Given the description of an element on the screen output the (x, y) to click on. 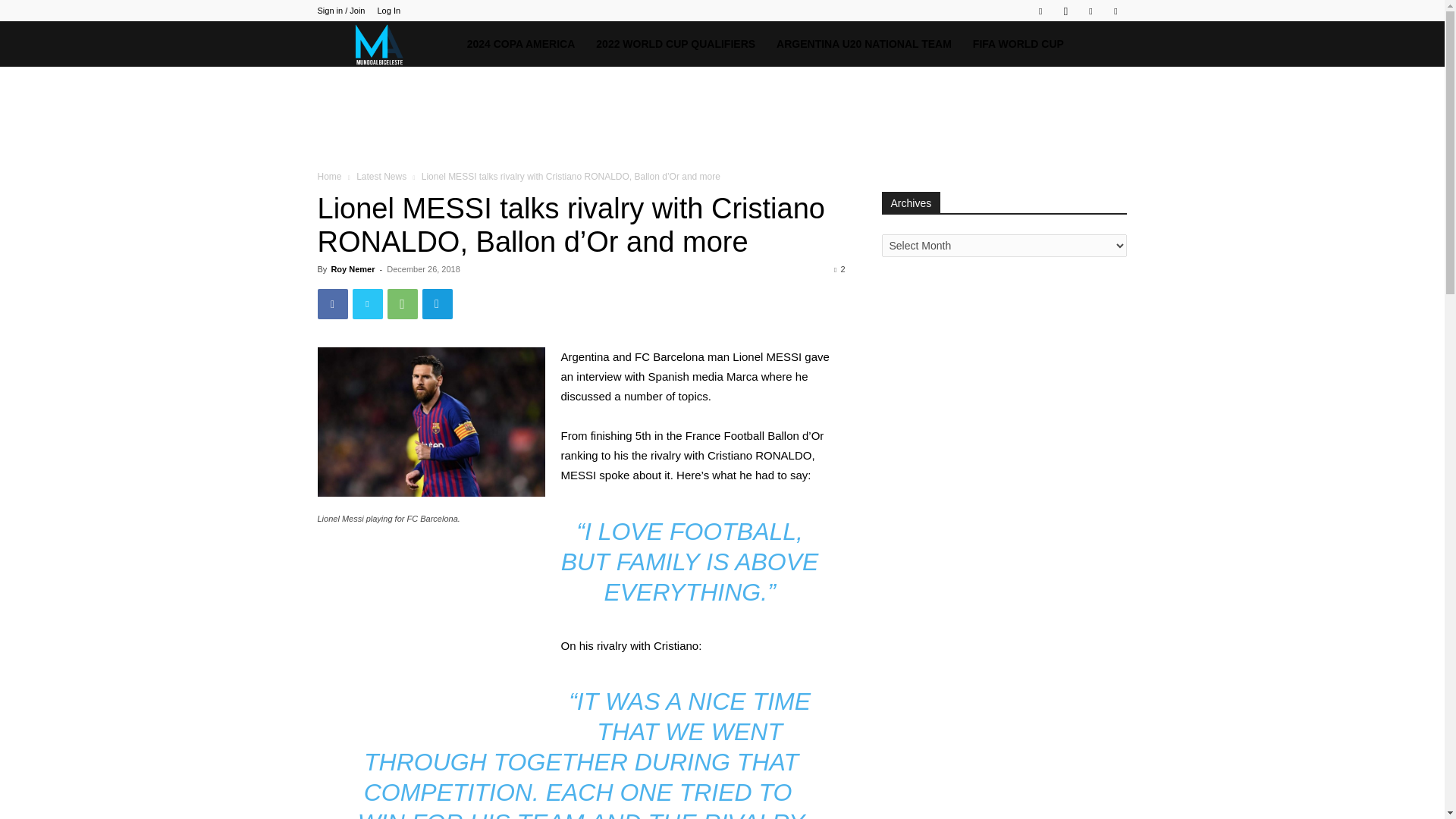
FIFA WORLD CUP (1018, 43)
Facebook (332, 304)
Log In (388, 10)
View all posts in Latest News (381, 176)
Twitter (1090, 10)
Instagram (1065, 10)
Youtube (1114, 10)
Telegram (436, 304)
Twitter (366, 304)
Facebook (1040, 10)
Roy Nemer (352, 268)
Latest News (381, 176)
2024 COPA AMERICA (521, 43)
WhatsApp (401, 304)
Advertisement (721, 119)
